Given the description of an element on the screen output the (x, y) to click on. 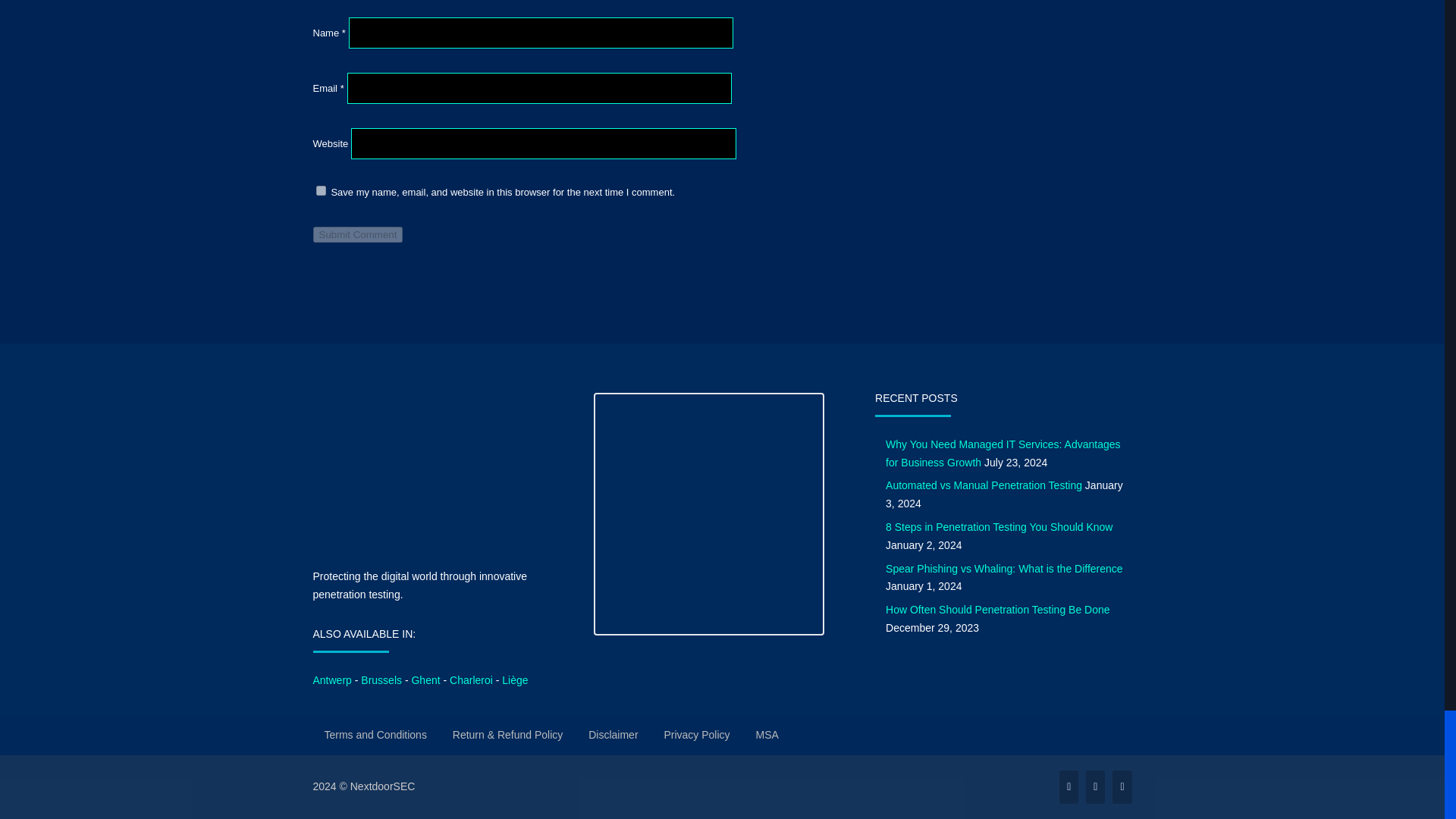
yes (319, 190)
